Given the description of an element on the screen output the (x, y) to click on. 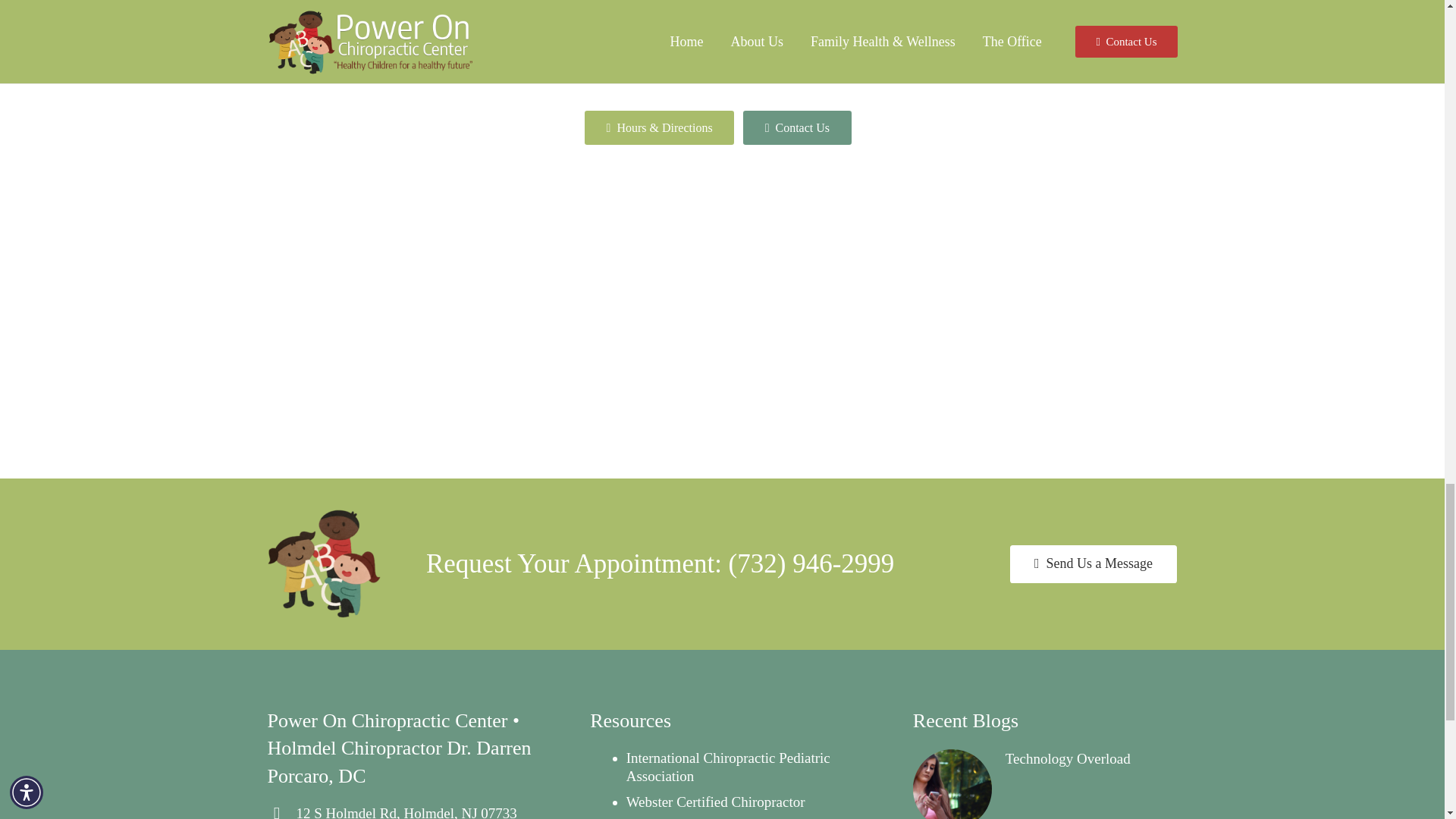
Office Hours and Directions (660, 127)
Contact Us (1093, 564)
Contact Us (796, 127)
